Given the description of an element on the screen output the (x, y) to click on. 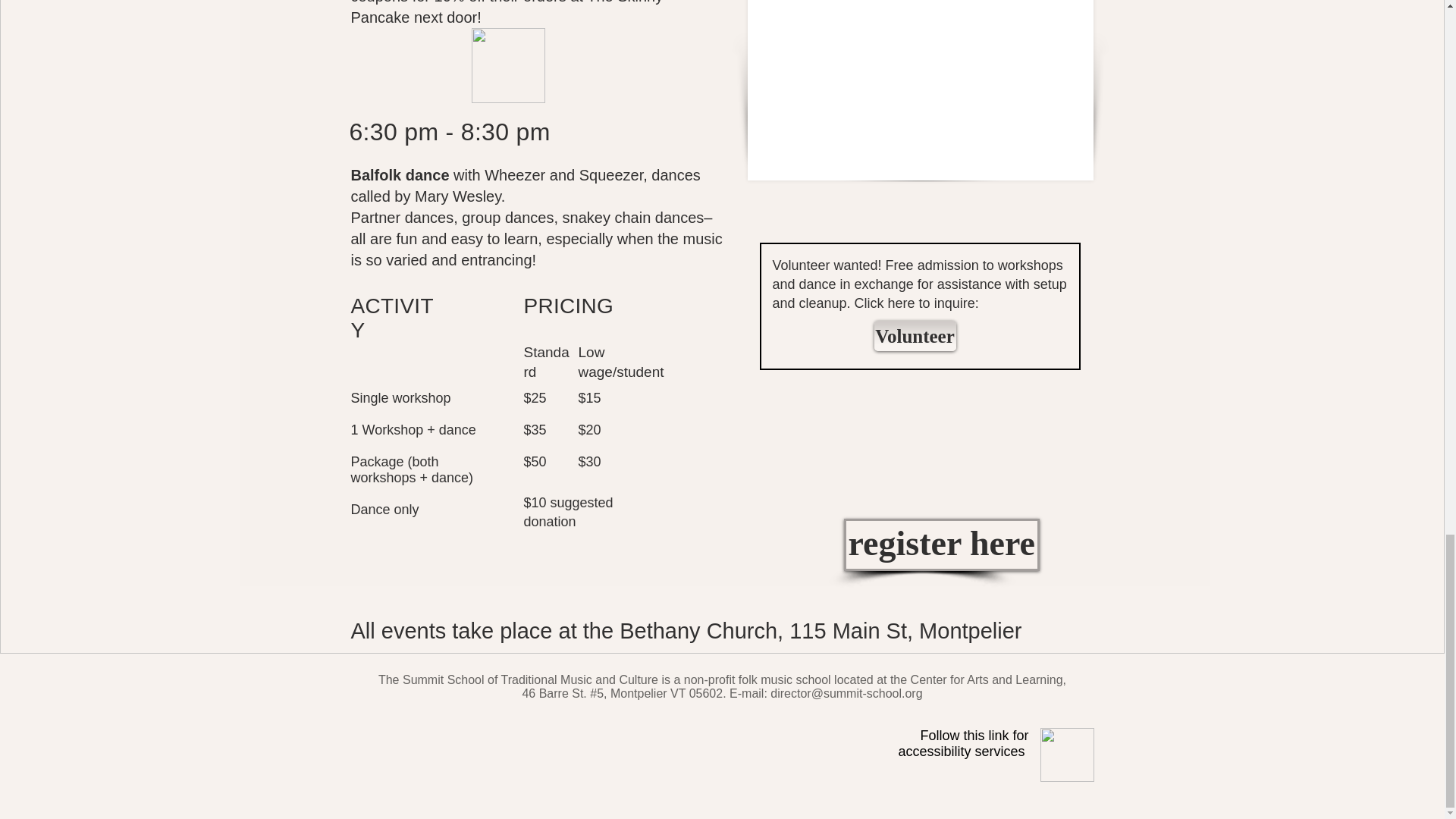
  Follow this link for accessibility services  (962, 743)
register here (941, 544)
Volunteer (914, 336)
